Given the description of an element on the screen output the (x, y) to click on. 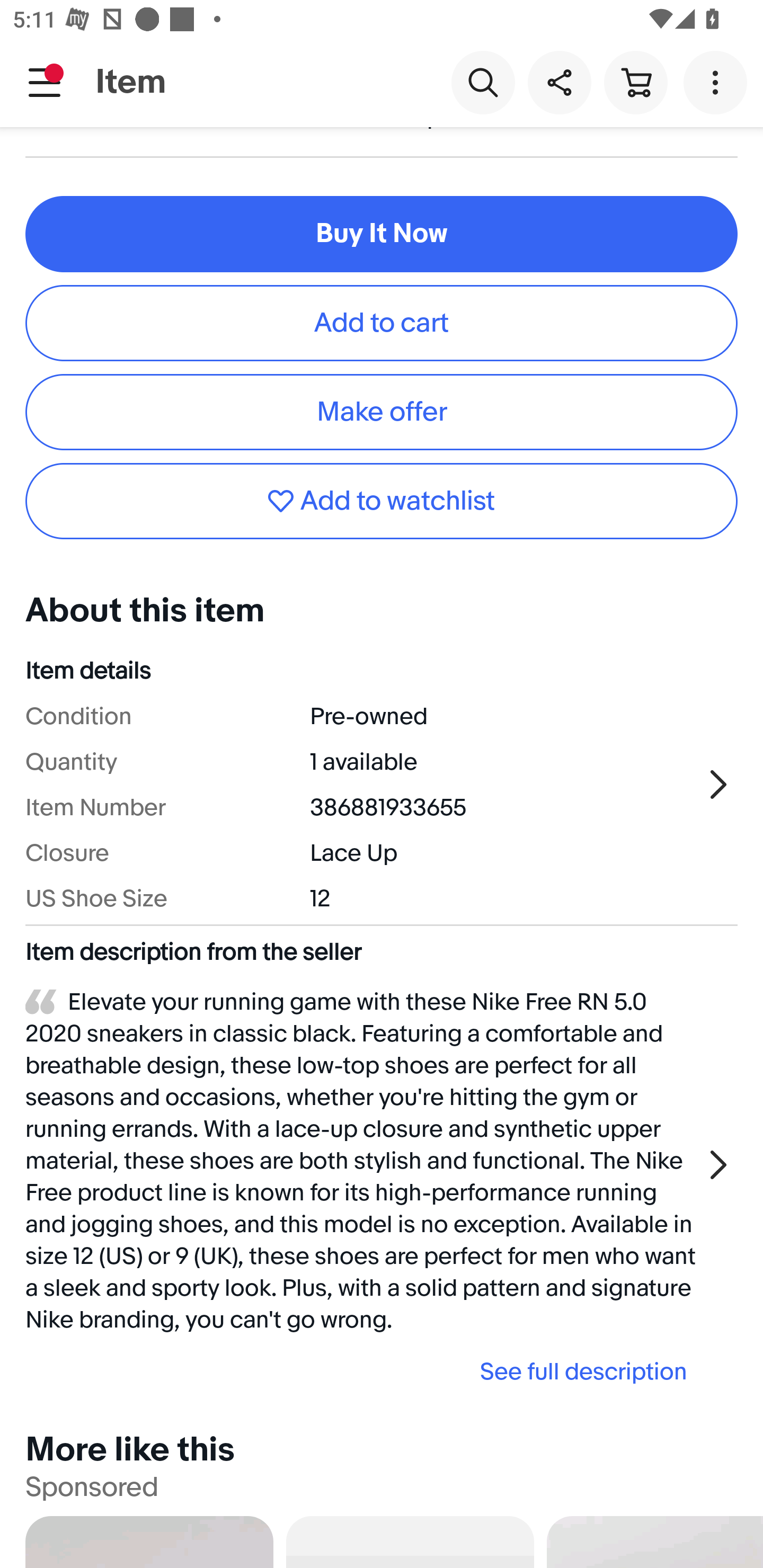
Main navigation, notification is pending, open (44, 82)
Search (482, 81)
Share this item (559, 81)
Cart button shopping cart (635, 81)
More options (718, 81)
Buy It Now (381, 234)
Add to cart (381, 322)
Make offer (381, 412)
Add to watchlist (381, 500)
See full description (362, 1370)
